Given the description of an element on the screen output the (x, y) to click on. 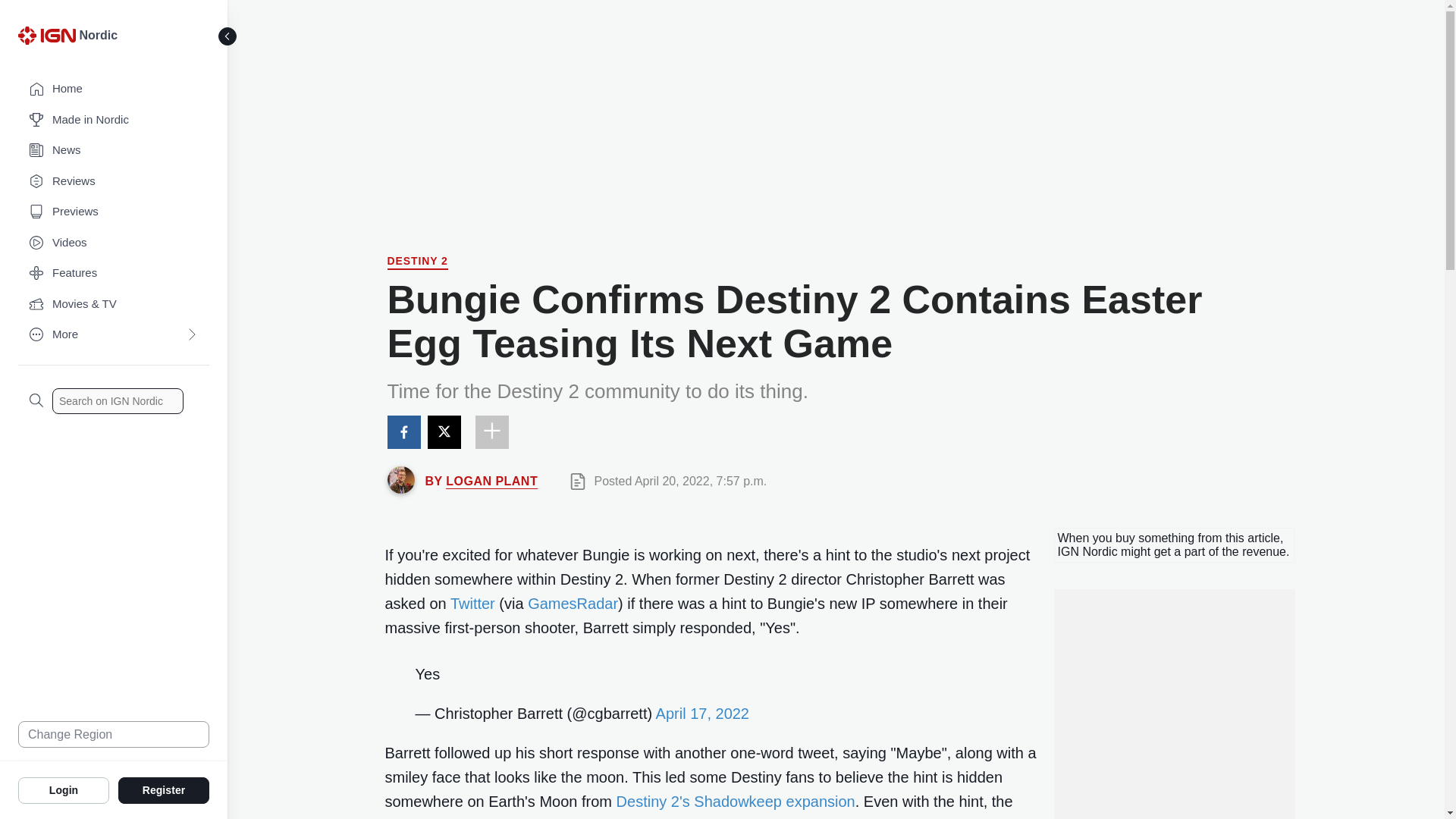
Twitter (472, 603)
Login (63, 789)
DESTINY 2 (416, 262)
Reviews (113, 181)
News (113, 150)
More (113, 334)
Made in Nordic (113, 119)
Features (113, 273)
Destiny 2 (416, 262)
Videos (113, 242)
Toggle Sidebar (226, 36)
Register (163, 789)
LOGAN PLANT (491, 481)
Home (113, 89)
